Given the description of an element on the screen output the (x, y) to click on. 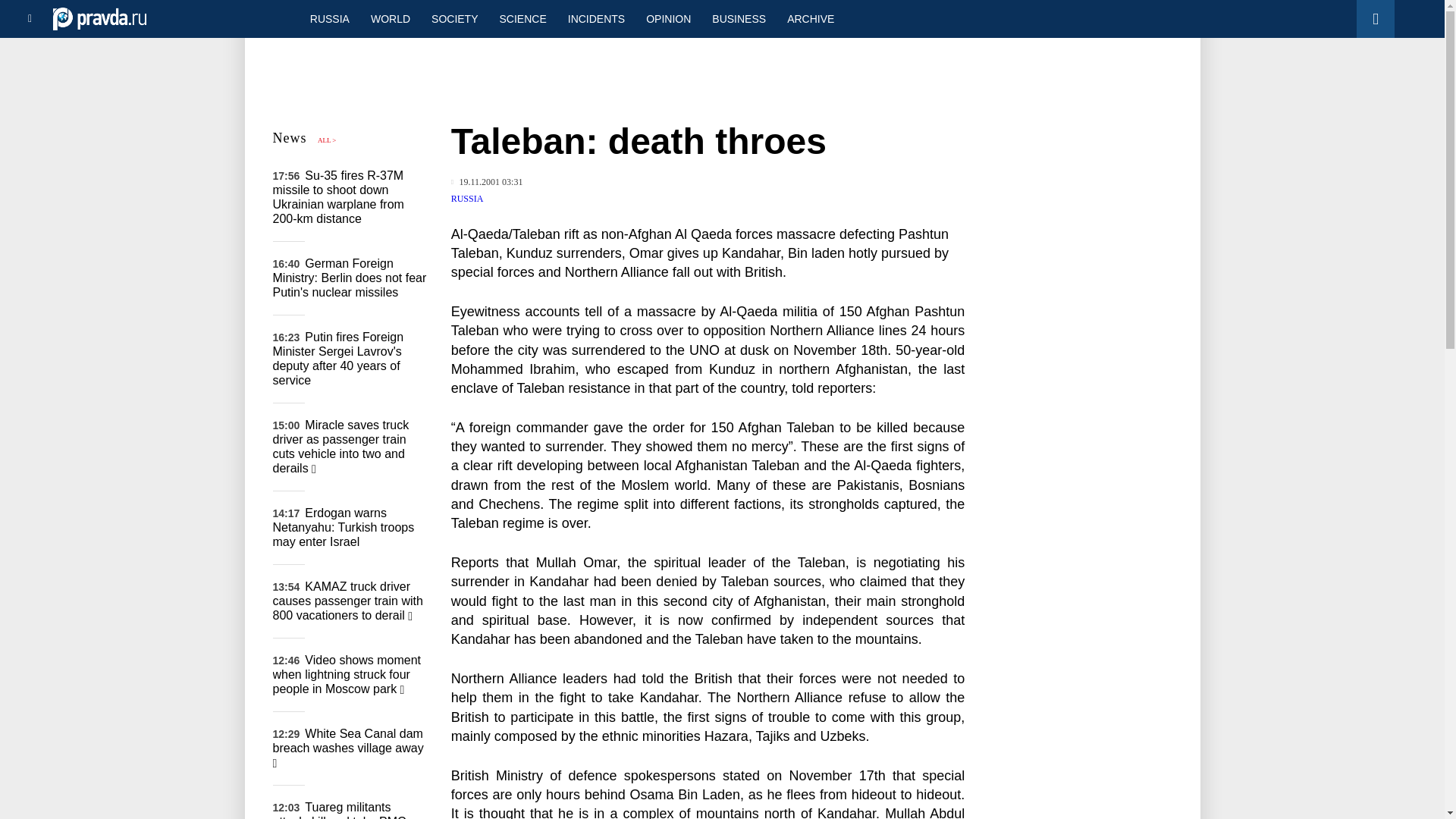
BUSINESS (738, 18)
RUSSIA (329, 18)
OPINION (667, 18)
INCIDENTS (595, 18)
White Sea Canal dam breach washes village away (348, 748)
News (290, 137)
SCIENCE (523, 18)
Published (486, 182)
Erdogan warns Netanyahu: Turkish troops may enter Israel (343, 526)
